Given the description of an element on the screen output the (x, y) to click on. 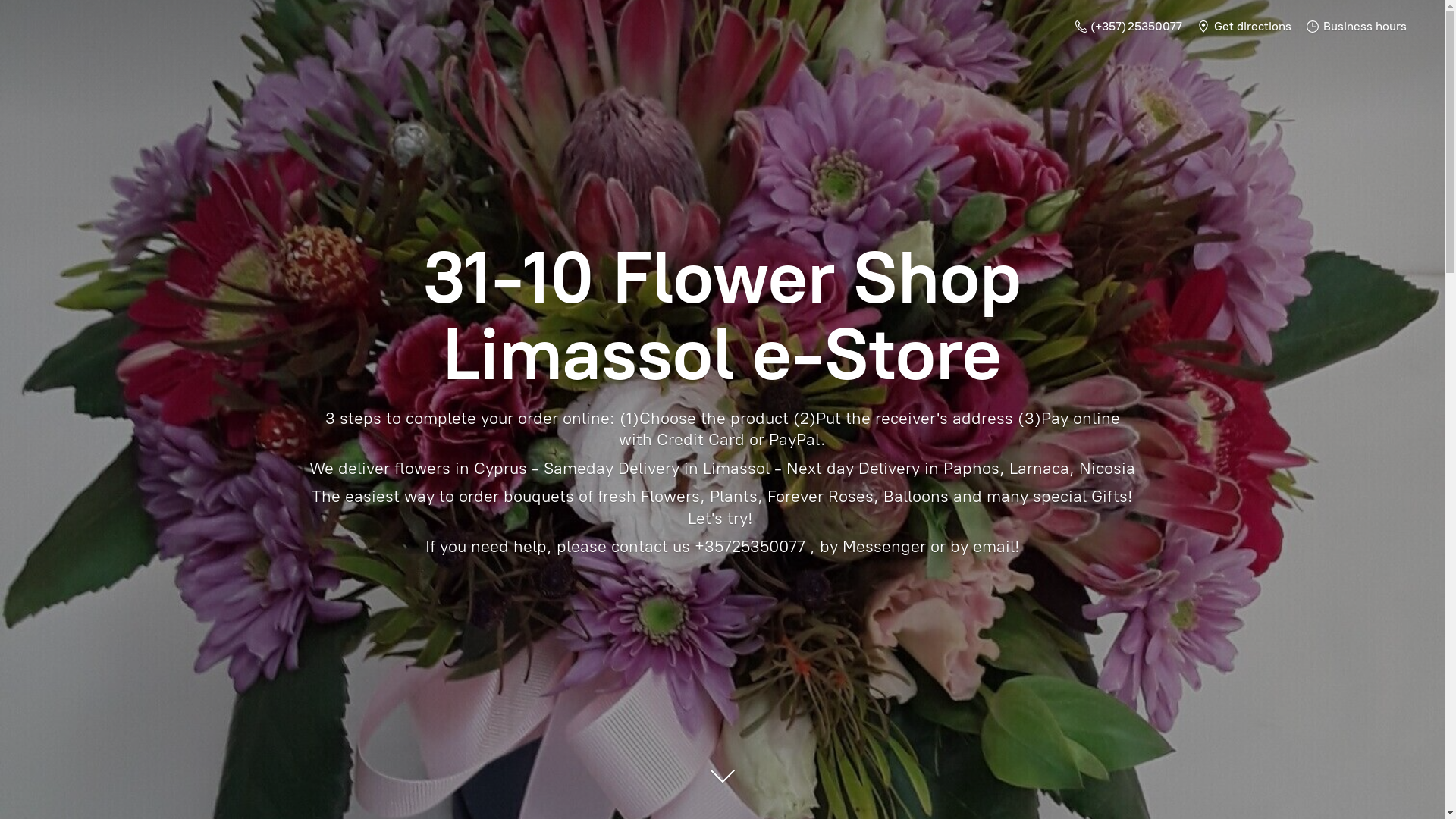
Get directions Element type: text (1244, 26)
Business hours Element type: text (1356, 26)
